Given the description of an element on the screen output the (x, y) to click on. 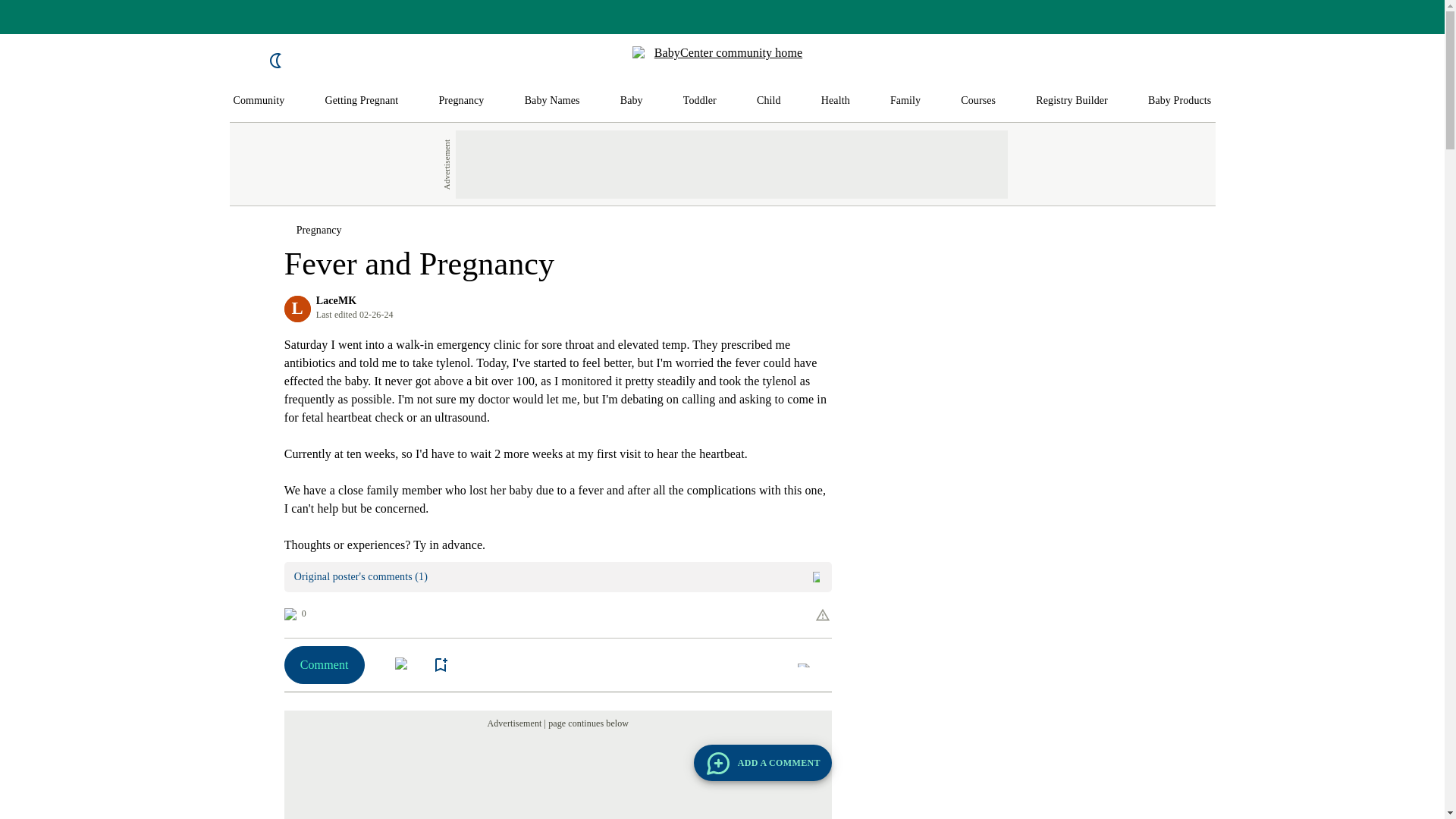
Registry Builder (1071, 101)
Community (258, 101)
Baby Products (1179, 101)
Getting Pregnant (360, 101)
Baby (631, 101)
Pregnancy (460, 101)
Health (835, 101)
Family (904, 101)
Toddler (699, 101)
Child (768, 101)
